Given the description of an element on the screen output the (x, y) to click on. 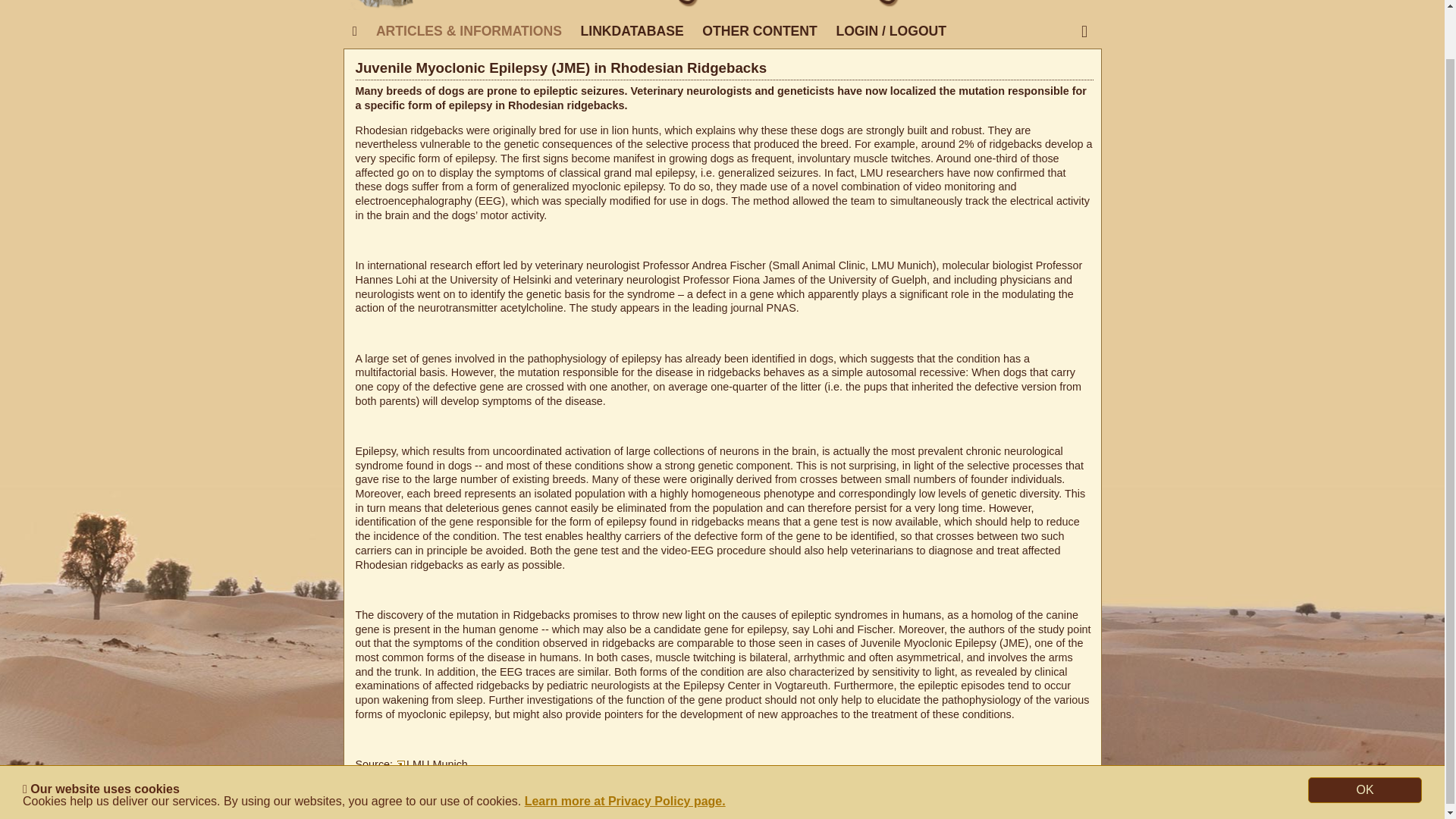
OTHER CONTENT (760, 31)
LINKDATABASE (631, 31)
